Given the description of an element on the screen output the (x, y) to click on. 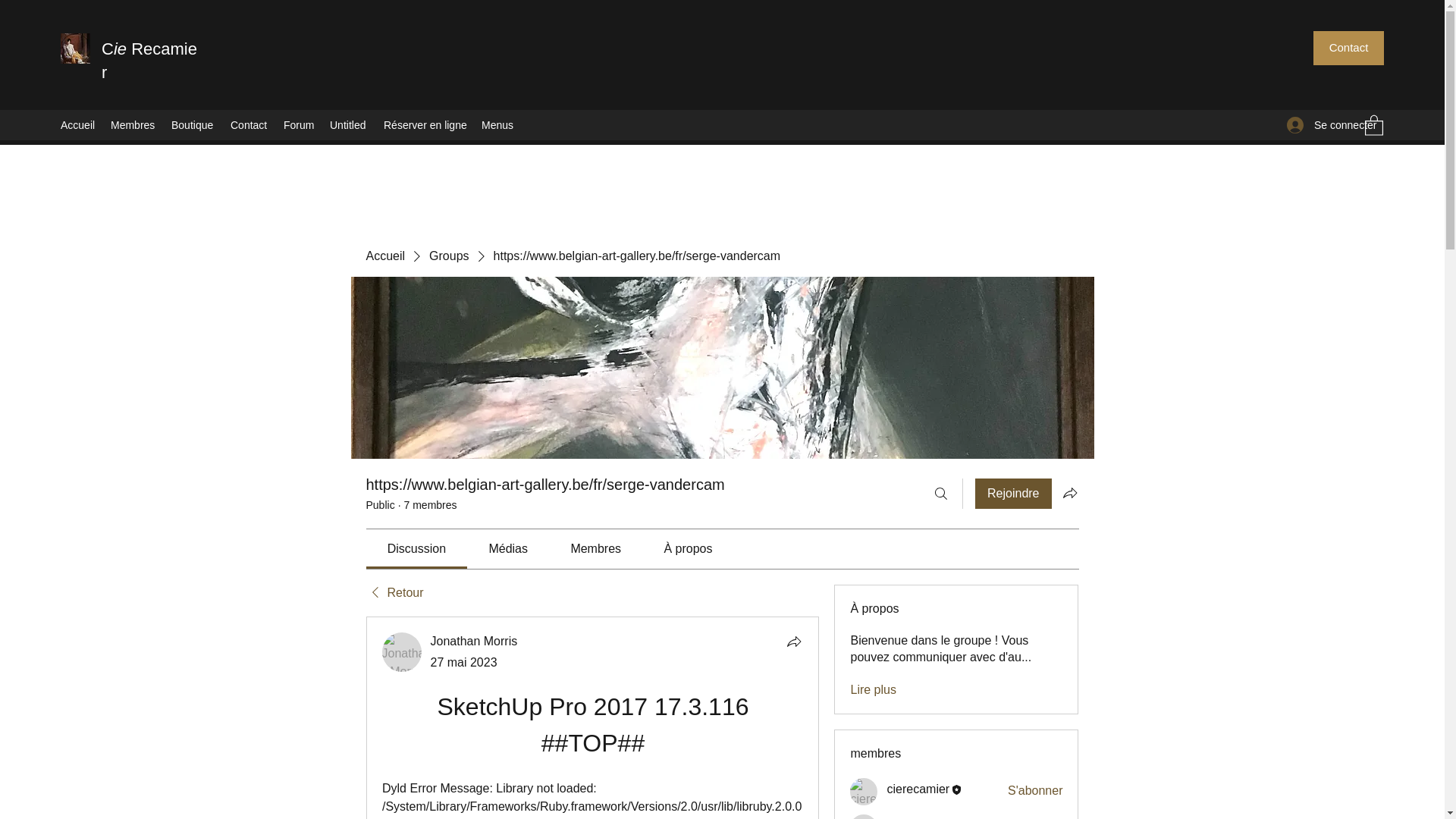
cierecamier (917, 789)
Forum (298, 124)
Menus (497, 124)
Accueil (77, 124)
Retour (394, 592)
longreframonkuhin (863, 816)
Contact (249, 124)
longreframonkuhin (936, 818)
Se connecter (1317, 124)
Groups (448, 256)
